Given the description of an element on the screen output the (x, y) to click on. 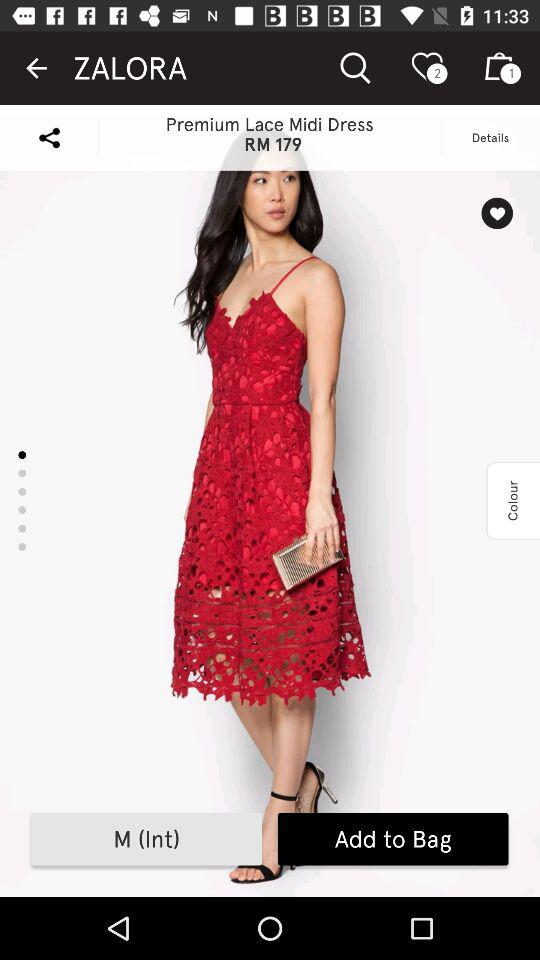
select like (496, 213)
